Given the description of an element on the screen output the (x, y) to click on. 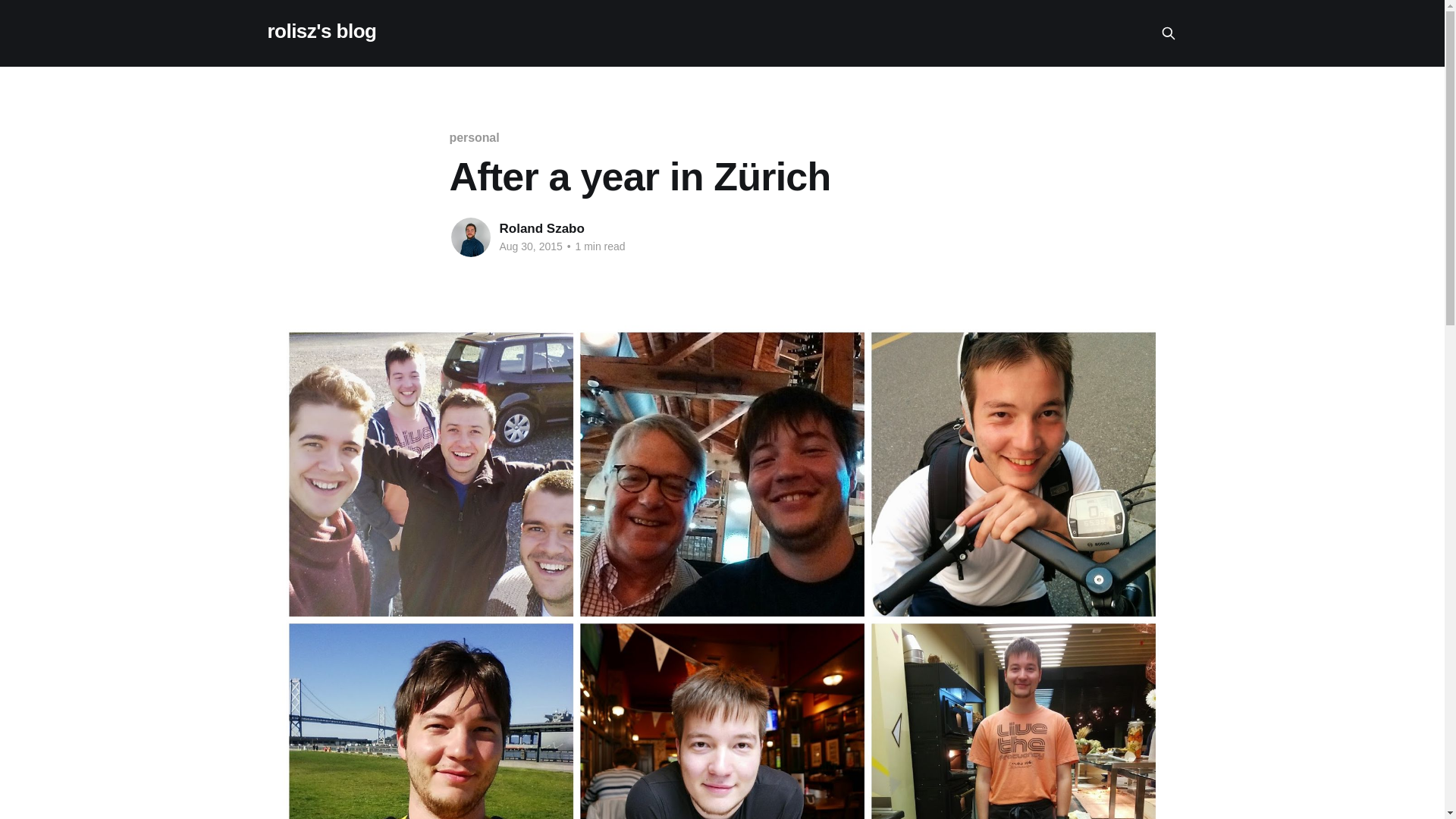
personal (473, 137)
Roland Szabo (541, 228)
rolisz's blog (320, 31)
